Given the description of an element on the screen output the (x, y) to click on. 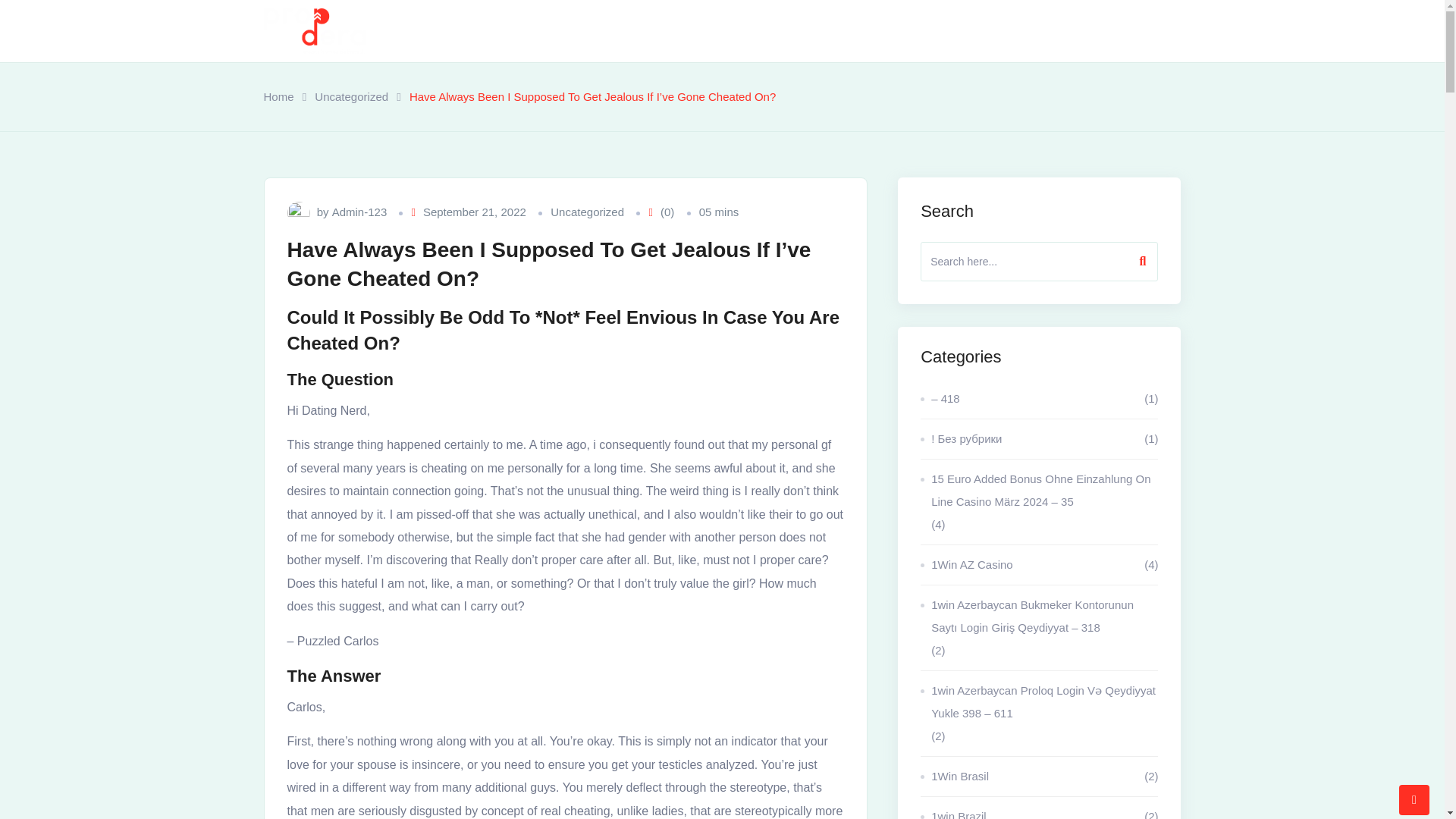
Projects (752, 31)
Career (901, 31)
Uncategorized (587, 212)
Contact (963, 31)
Services (830, 31)
Uncategorized (351, 96)
Why Propdera? (659, 31)
Home (579, 31)
Admin-123 (359, 212)
Home (278, 96)
